Given the description of an element on the screen output the (x, y) to click on. 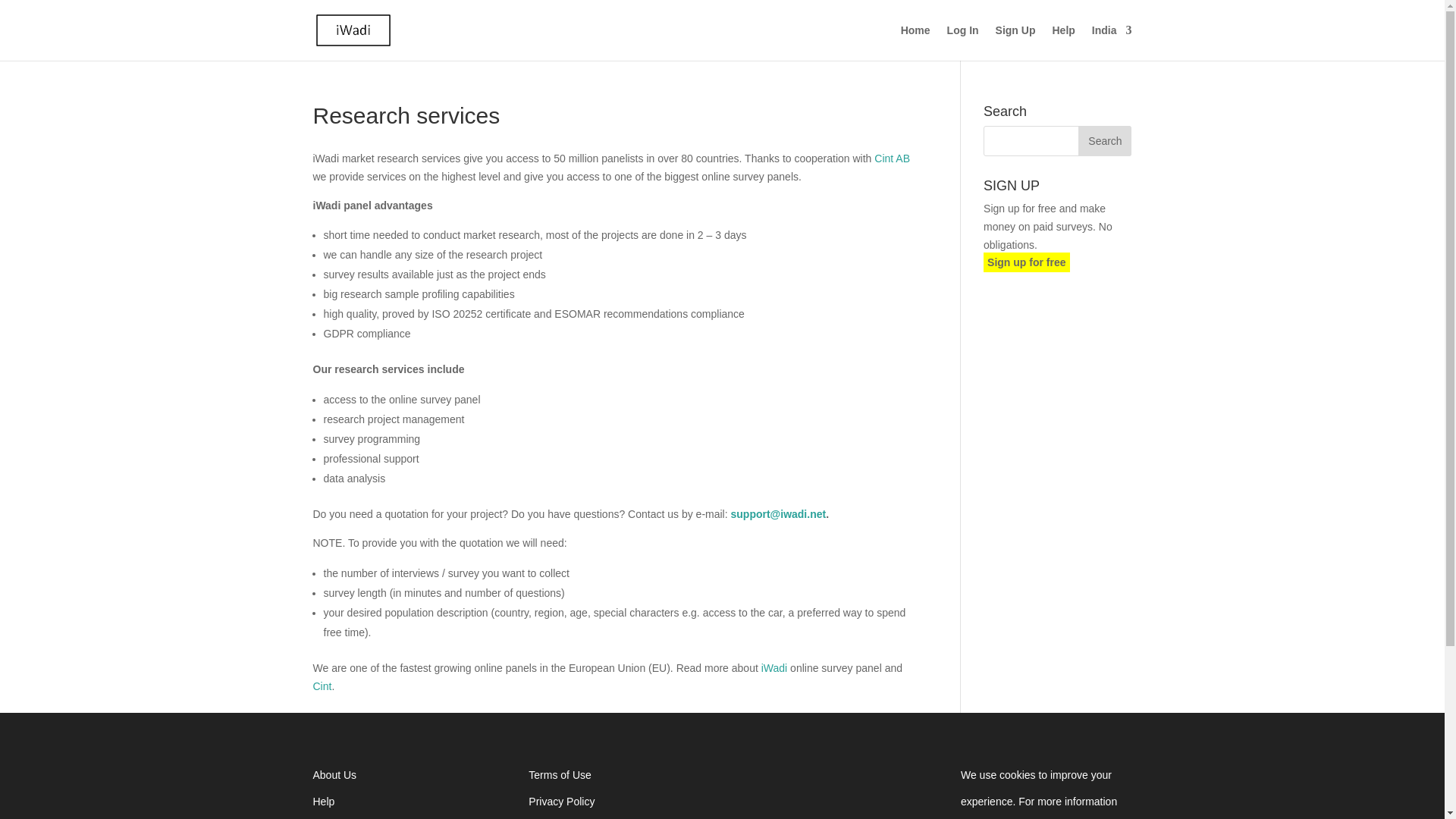
Log In (962, 42)
Sign Up (1015, 42)
Search (1104, 141)
India (1112, 42)
India (1112, 42)
